Given the description of an element on the screen output the (x, y) to click on. 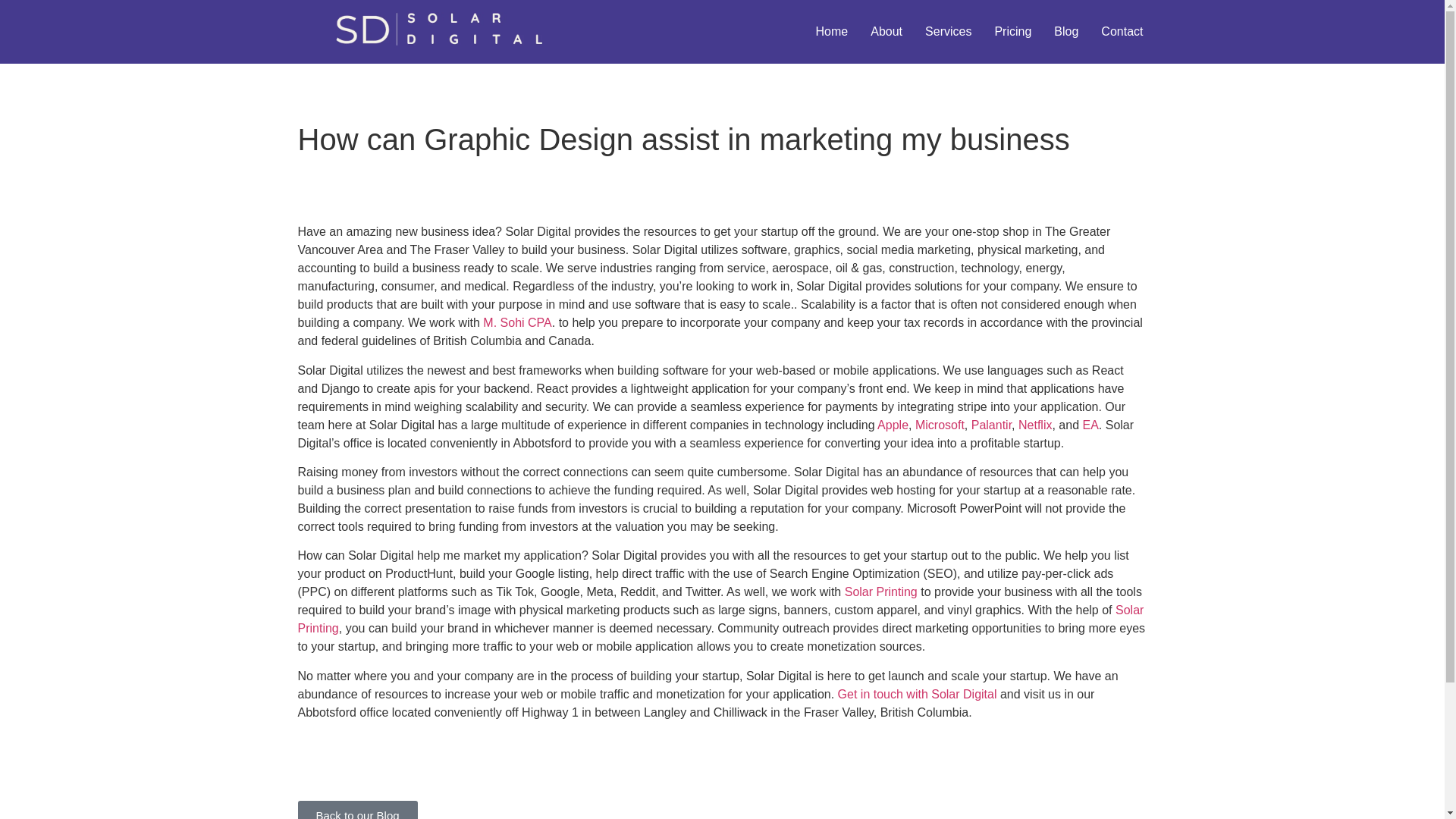
EA (1089, 424)
Back to our Blog (356, 809)
About (886, 31)
Netflix (1034, 424)
Contact (1121, 31)
Palantir (991, 424)
Home (832, 31)
Pricing (1012, 31)
M. Sohi CPA (517, 322)
Apple (892, 424)
Services (948, 31)
Get in touch with Solar Digital (917, 694)
Solar Printing (880, 591)
Solar Printing (719, 618)
Microsoft (939, 424)
